Given the description of an element on the screen output the (x, y) to click on. 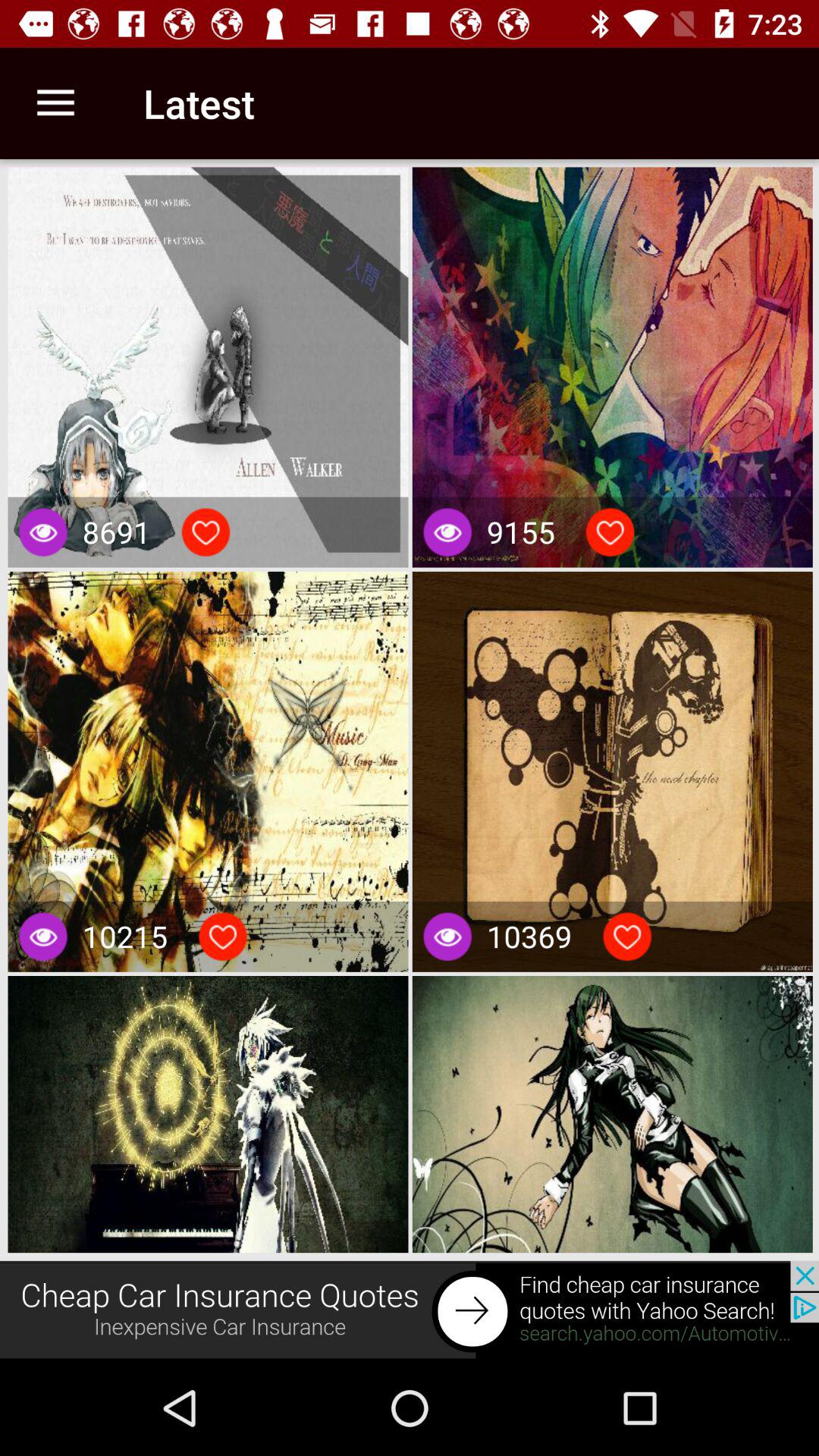
like 3rd option (222, 936)
